Given the description of an element on the screen output the (x, y) to click on. 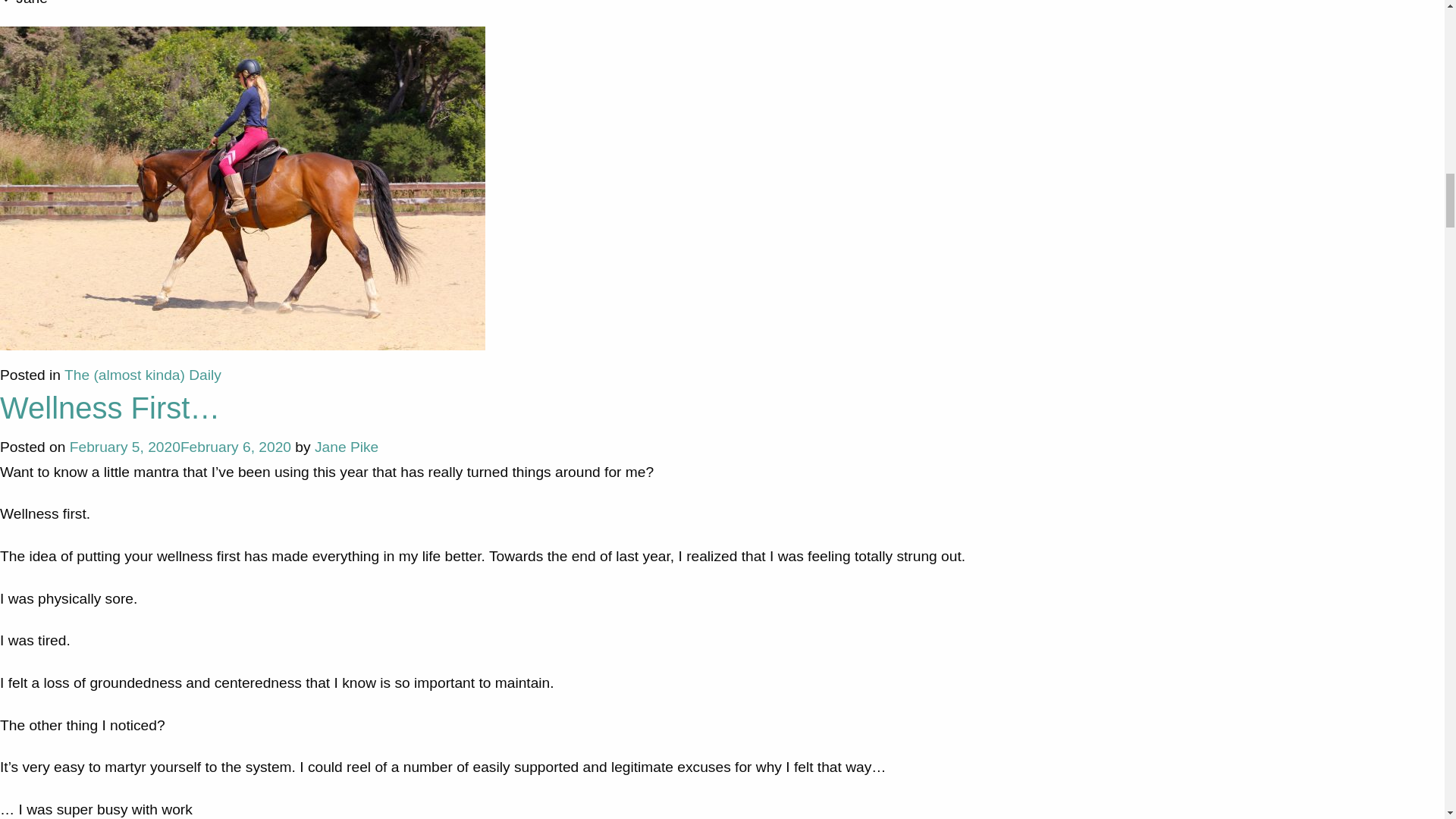
February 5, 2020February 6, 2020 (180, 446)
Jane Pike (346, 446)
